Given the description of an element on the screen output the (x, y) to click on. 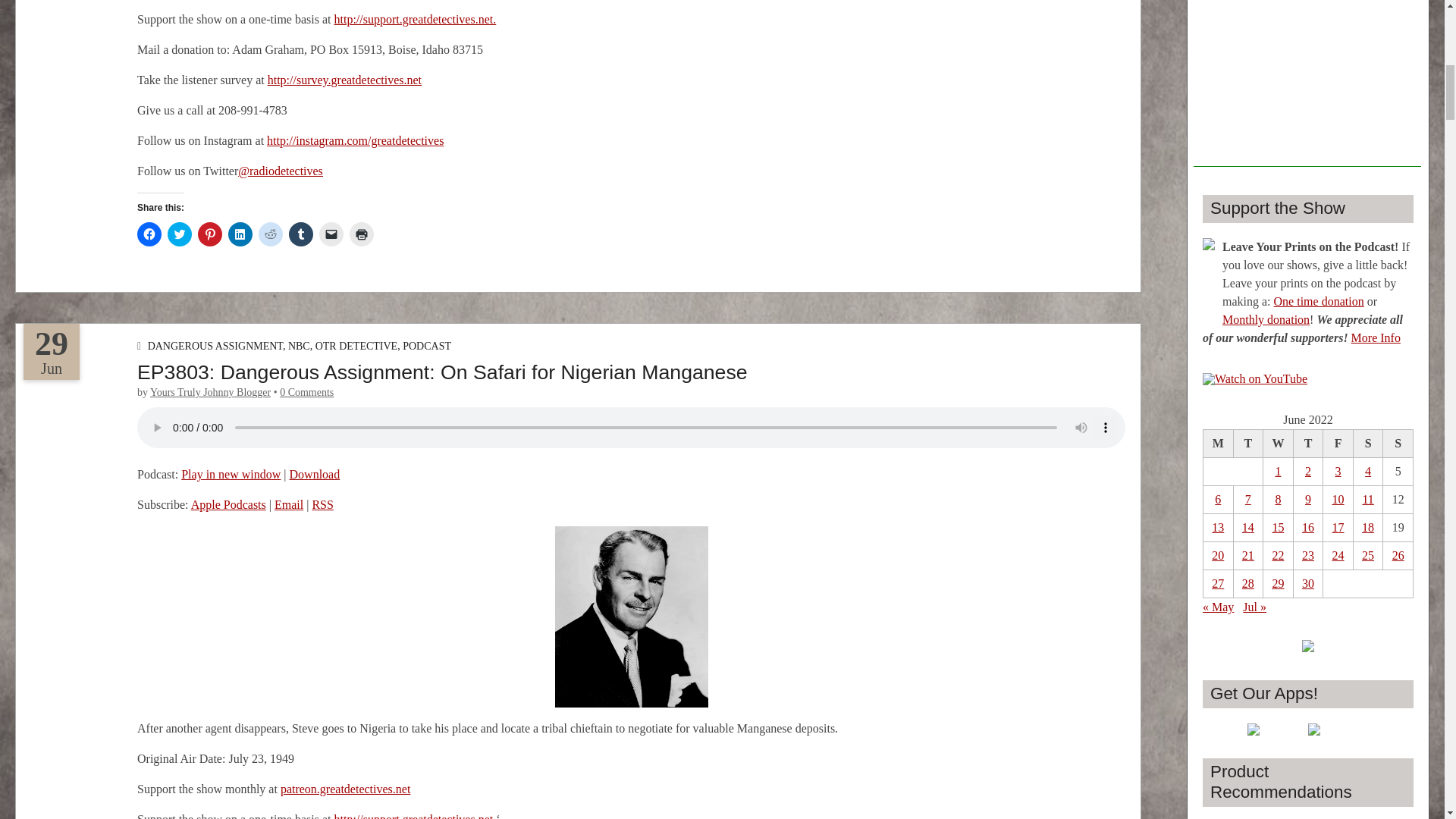
Click to share on Pinterest (210, 233)
Click to share on Twitter (179, 233)
Click to share on LinkedIn (239, 233)
Click to share on Facebook (148, 233)
Posts by Yours Truly Johnny Blogger (209, 392)
Click to print (361, 233)
Click to share on Tumblr (300, 233)
Click to share on Reddit (270, 233)
Click to email a link to a friend (330, 233)
